Given the description of an element on the screen output the (x, y) to click on. 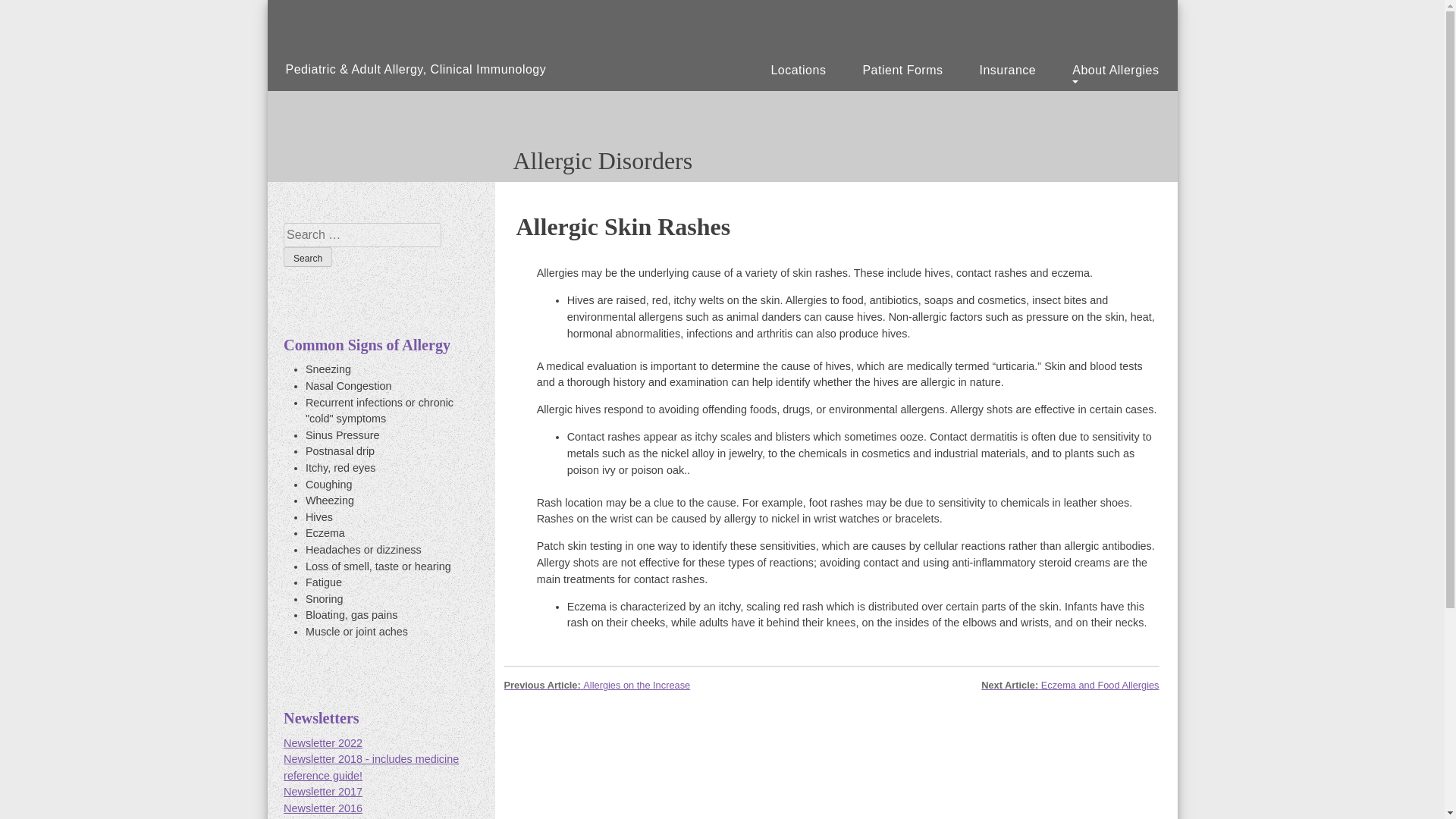
Insurance (1007, 72)
Patient Forms (902, 72)
Newsletter 2016 (322, 808)
Search (307, 256)
Search (307, 256)
Search (307, 256)
Newsletter 2017 (322, 791)
About Allergies (1115, 72)
Newsletter 2022 (322, 743)
